Given the description of an element on the screen output the (x, y) to click on. 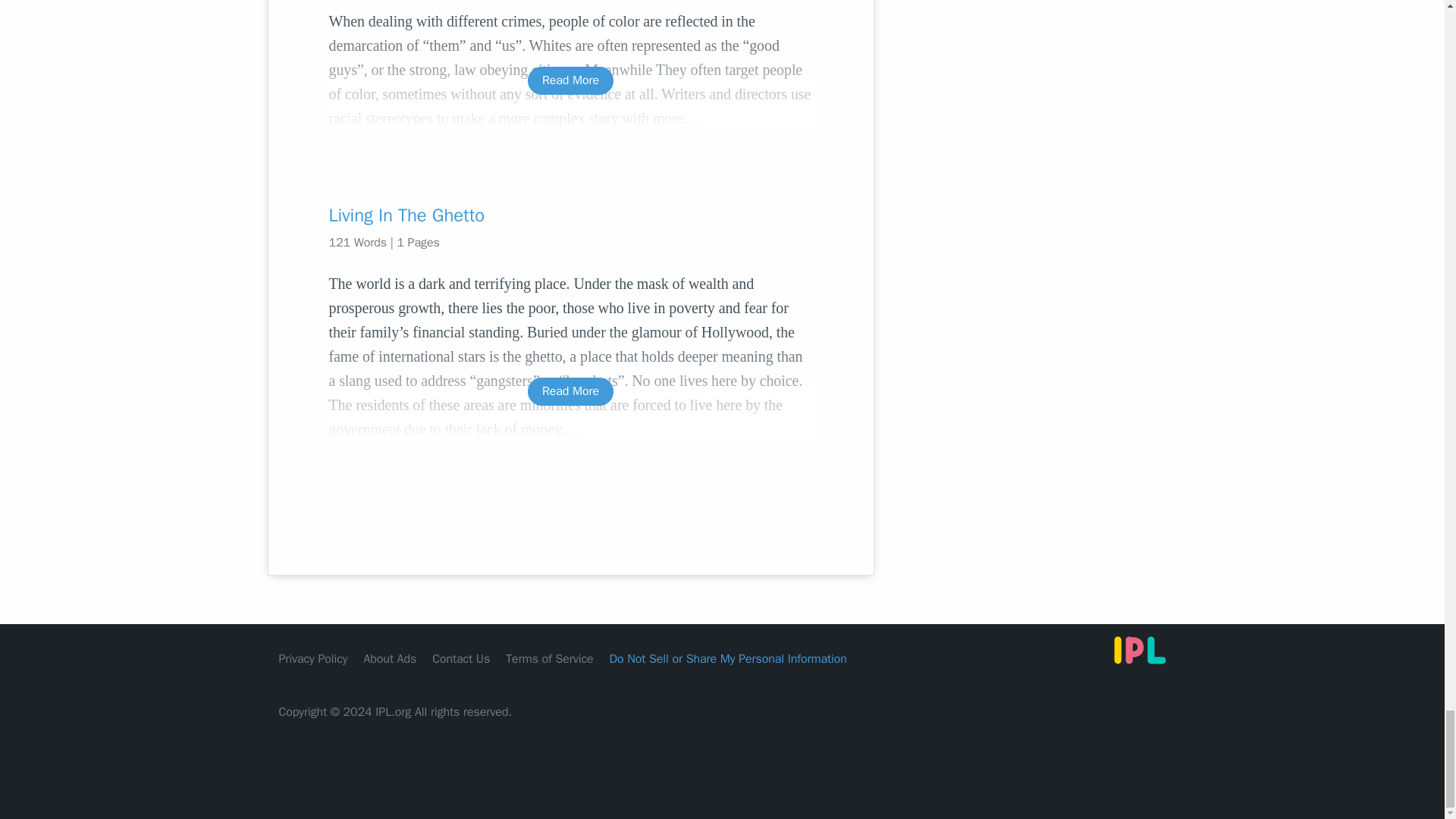
Privacy Policy (313, 658)
Living In The Ghetto (570, 215)
Read More (569, 391)
Contact Us (460, 658)
About Ads (389, 658)
About Ads (389, 658)
Contact Us (460, 658)
Terms of Service (548, 658)
Privacy Policy (313, 658)
Read More (569, 80)
